Given the description of an element on the screen output the (x, y) to click on. 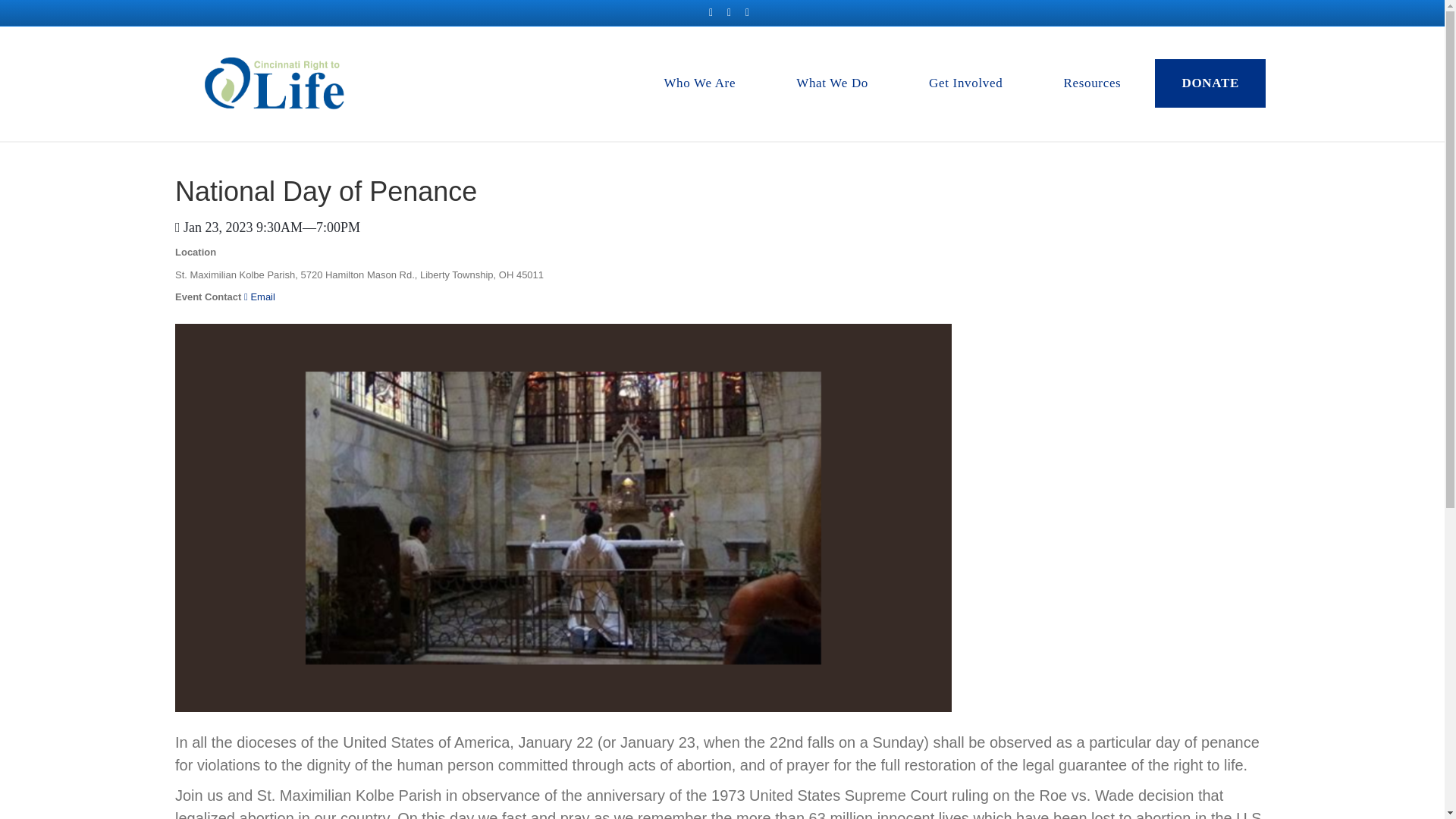
Resources (1091, 82)
Who We Are (699, 82)
Youtube (729, 11)
What We Do (832, 82)
Facebook (710, 11)
Instagram (747, 11)
Get Involved (965, 82)
